Given the description of an element on the screen output the (x, y) to click on. 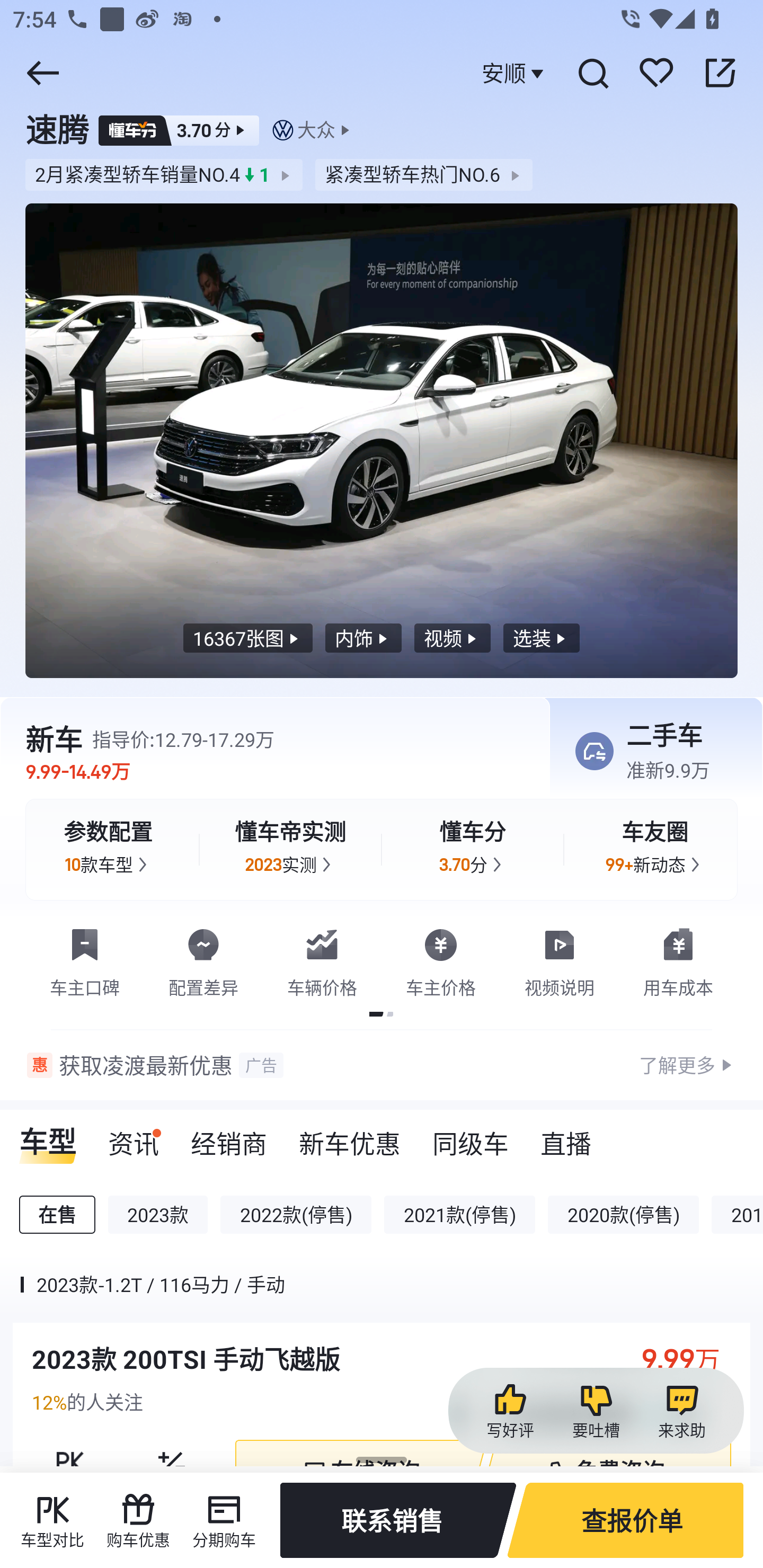
 (42, 72)
 (592, 72)
 (720, 72)
安顺 (514, 73)
大众 (316, 130)
2月紧凑型轿车销量NO.41  (163, 174)
紧凑型轿车热门NO.6  (423, 174)
16367张图 (247, 638)
内饰 (363, 638)
视频 (452, 638)
选装 (541, 638)
二手车 准新9.9万 (650, 751)
指导价:12.79-17.29万 (183, 738)
参数配置 10 款车型  (107, 849)
懂车帝实测 2023 实测  (290, 849)
懂车分 3.70 分  (472, 849)
车友圈 99+ 新动态  (654, 849)
车主口碑 (84, 958)
配置差异 (203, 958)
车辆价格 (321, 958)
车主价格 (440, 958)
视频说明 (559, 958)
用车成本 (677, 958)
惠 获取凌渡最新优惠 广告 了解更多  (381, 1064)
车型 (47, 1137)
资讯 (133, 1137)
经销商 (228, 1137)
新车优惠 (349, 1137)
同级车 (470, 1137)
直播 (565, 1137)
在售 (57, 1214)
2023款 (157, 1214)
2022款(停售) (295, 1214)
2021款(停售) (458, 1214)
2020款(停售) (622, 1214)
9.99 万 (689, 1359)
写好评 (510, 1410)
要吐槽 (595, 1410)
来求助 (681, 1410)
车型对比 (52, 1520)
购车优惠 (138, 1520)
分期购车 (224, 1520)
联系销售 (398, 1519)
查报价单 (625, 1519)
